Given the description of an element on the screen output the (x, y) to click on. 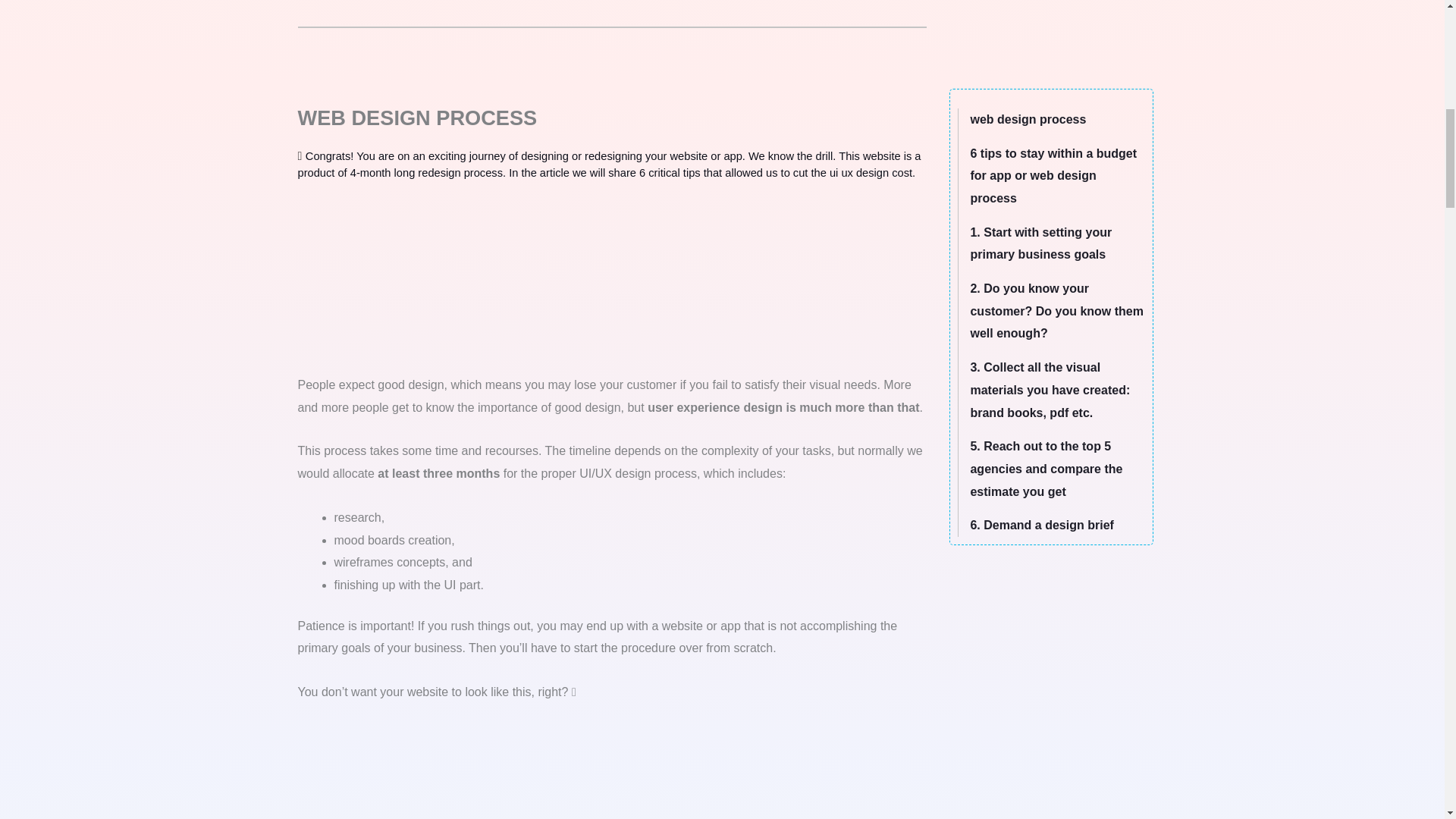
6. Demand a design brief (1041, 524)
1. Start with setting your primary business goals (1040, 243)
6 tips to stay within a budget for app or web design process (1053, 175)
web design process (1027, 119)
2. Do you know your customer? Do you know them well enough? (1055, 310)
